Given the description of an element on the screen output the (x, y) to click on. 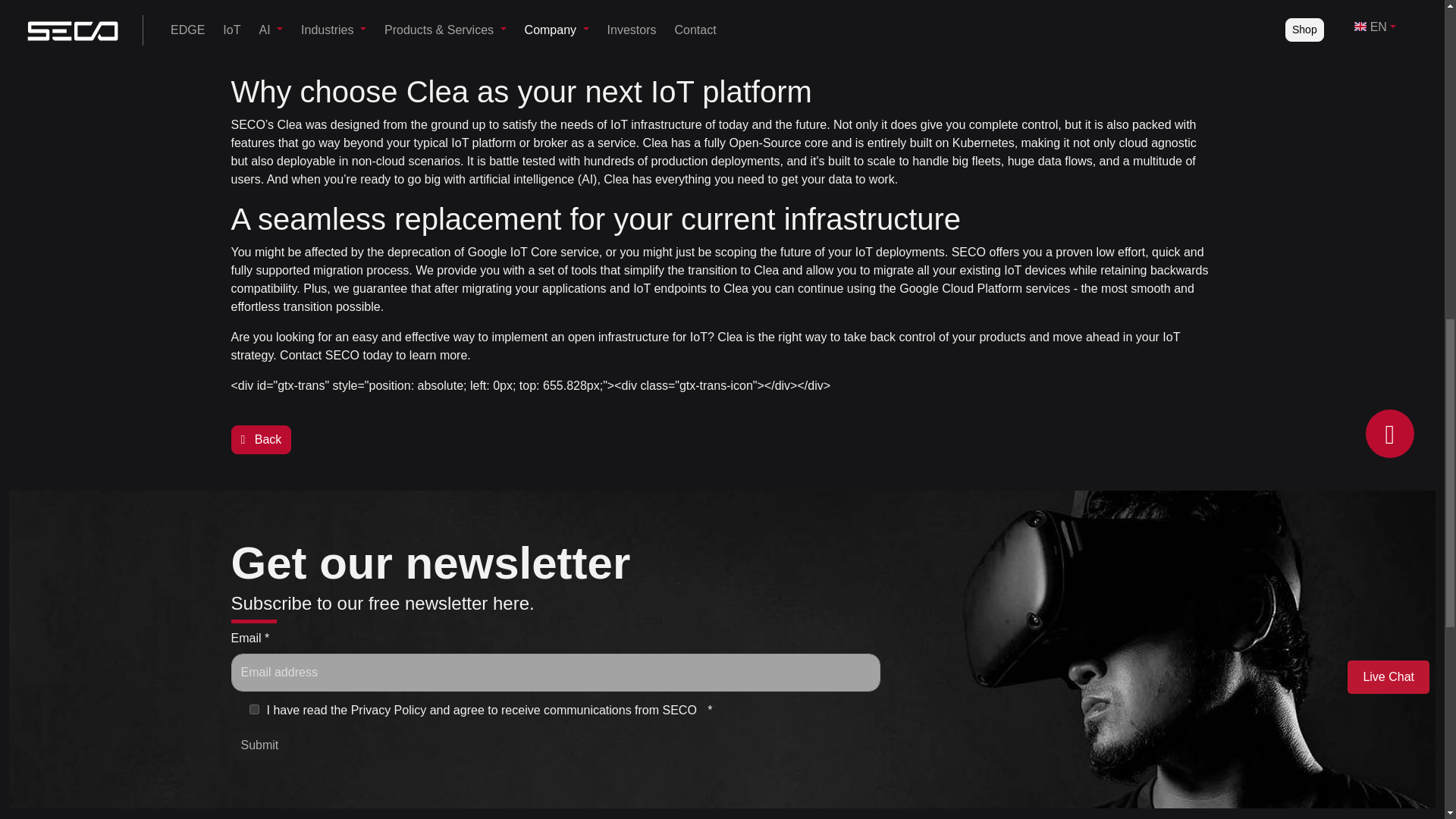
1 (253, 709)
